Given the description of an element on the screen output the (x, y) to click on. 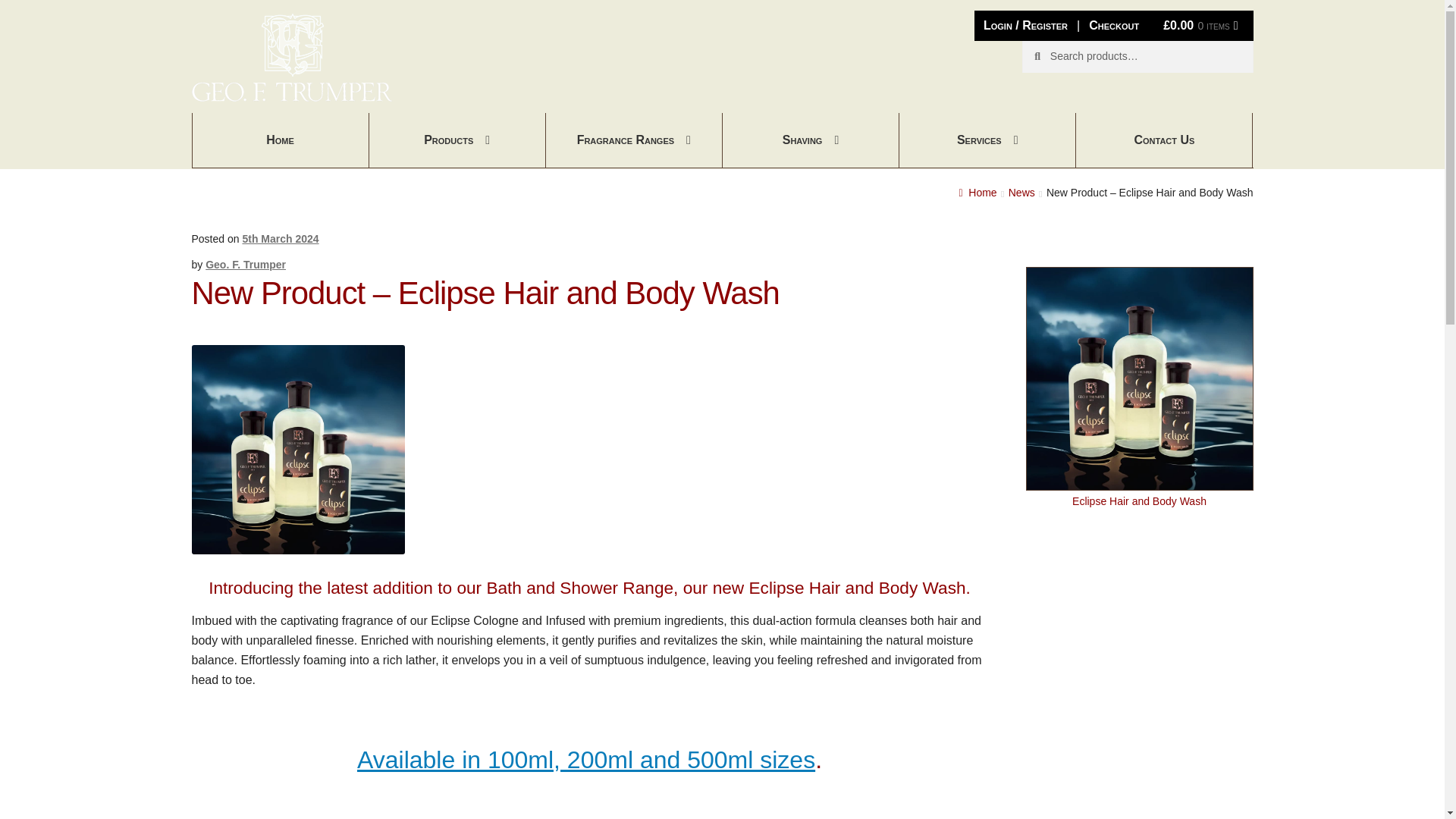
Products (457, 140)
Fragrance Ranges (634, 140)
Home (280, 140)
Checkout (1114, 25)
View your shopping basket (1200, 25)
